Given the description of an element on the screen output the (x, y) to click on. 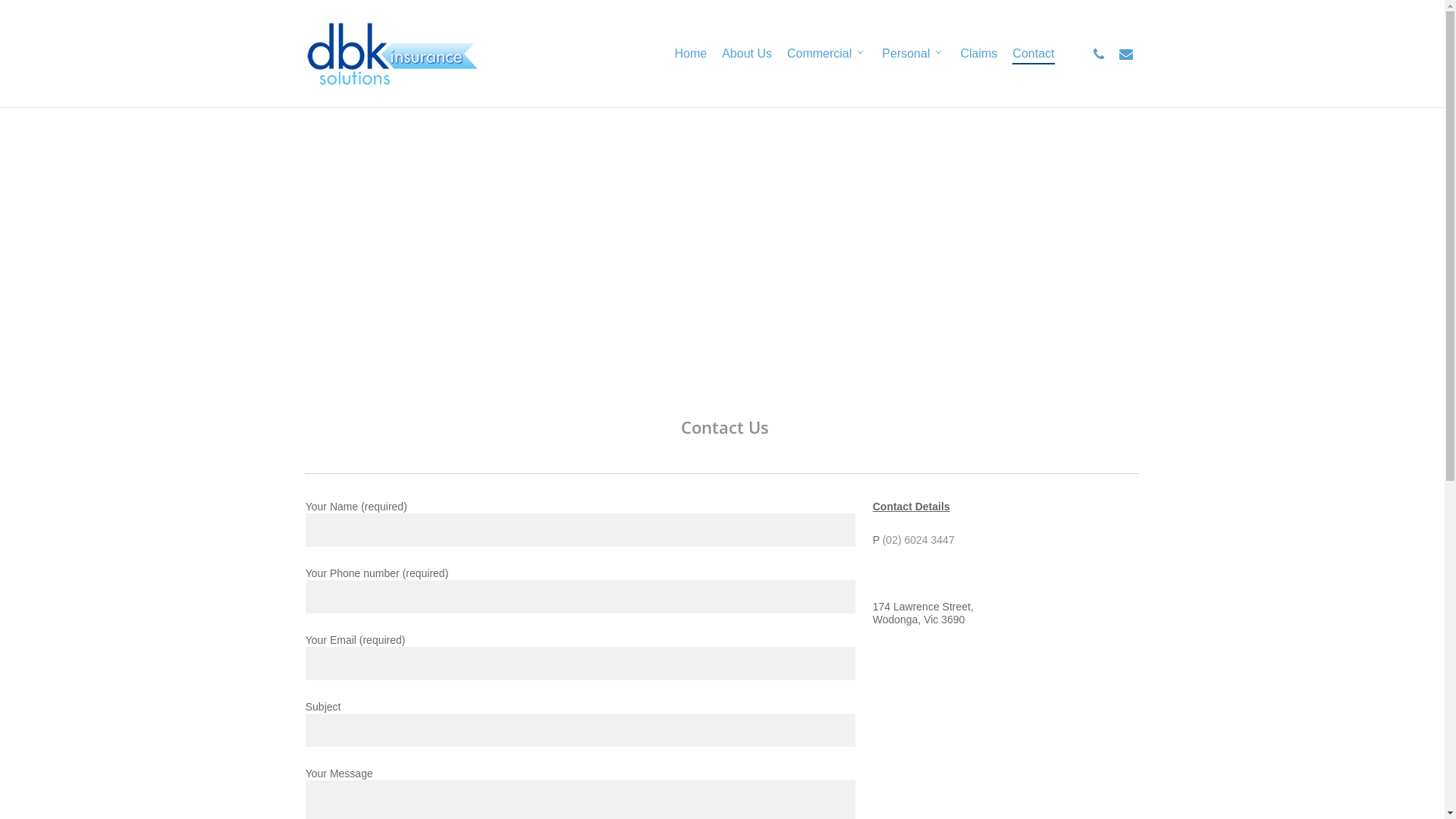
About Us Element type: text (746, 53)
email Element type: text (1125, 53)
phone Element type: text (1097, 53)
Commercial Element type: text (826, 53)
(02) 6024 3447 Element type: text (918, 539)
Personal Element type: text (912, 53)
Claims Element type: text (978, 53)
Contact Element type: text (1033, 53)
Menu Element type: text (1415, 7)
Home Element type: text (690, 53)
